Given the description of an element on the screen output the (x, y) to click on. 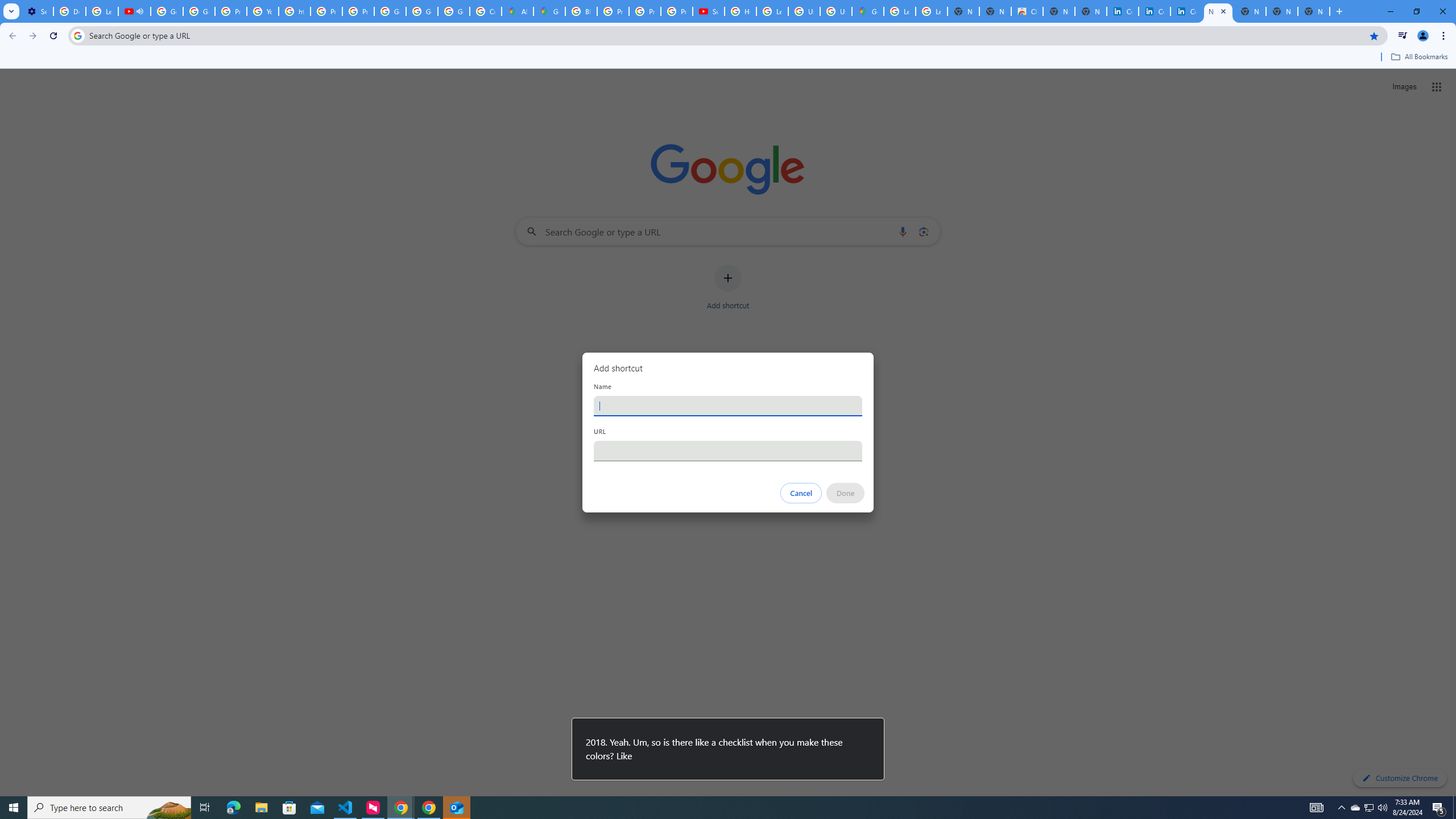
Bookmarks (728, 58)
YouTube (262, 11)
New Tab (1313, 11)
Settings - Customize profile (37, 11)
Cookie Policy | LinkedIn (1154, 11)
Privacy Help Center - Policies Help (613, 11)
Delete photos & videos - Computer - Google Photos Help (69, 11)
